Given the description of an element on the screen output the (x, y) to click on. 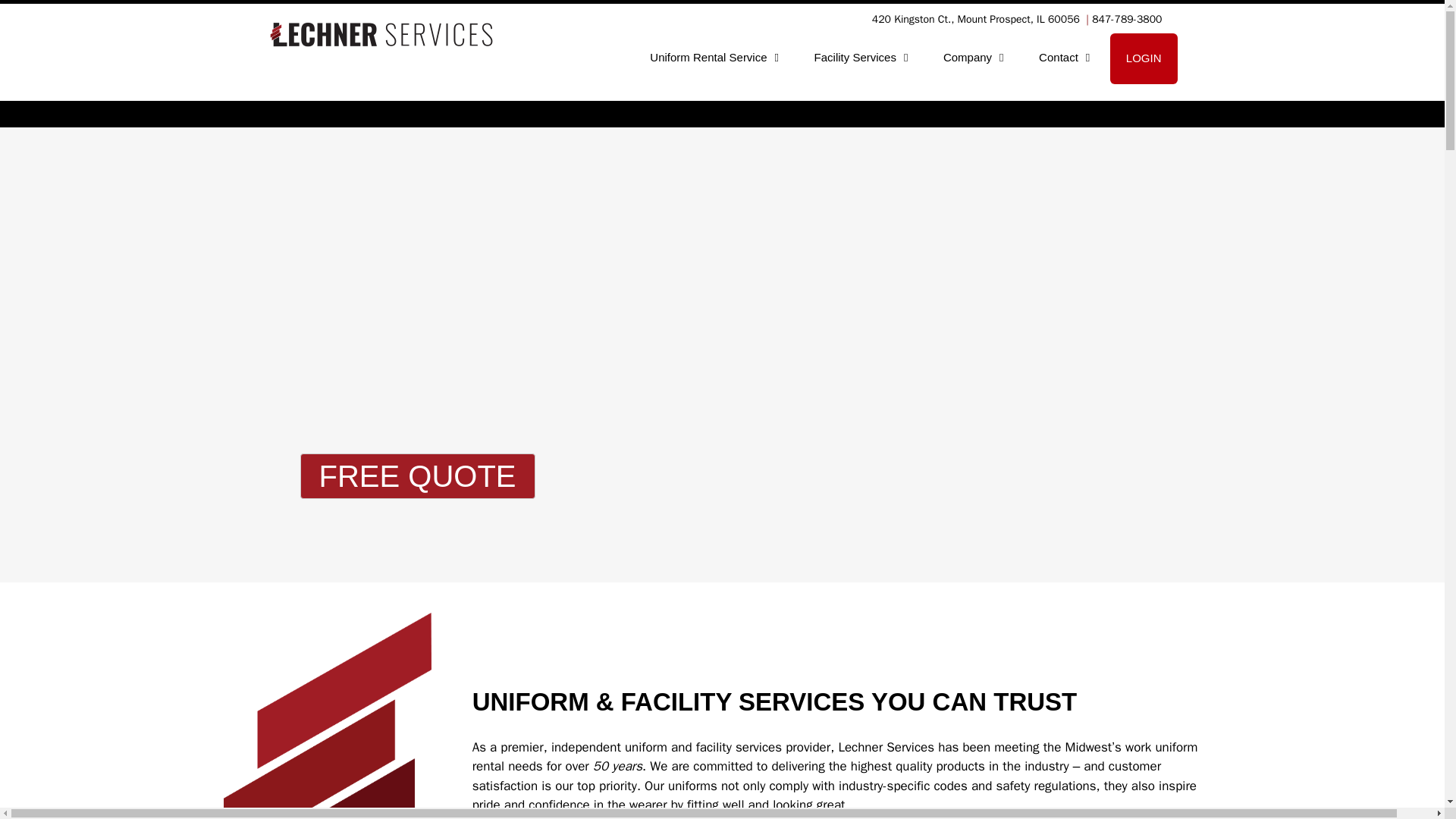
Facility Services (863, 57)
Uniform Rental Service (715, 57)
LOGIN (1143, 58)
Company (975, 57)
Contact (1066, 57)
FREE QUOTE (417, 475)
uniforms (692, 785)
847-789-3800 (1126, 19)
420 Kingston Ct., Mount Prospect, IL 60056 (976, 19)
SLASH-FullColor (327, 715)
